Given the description of an element on the screen output the (x, y) to click on. 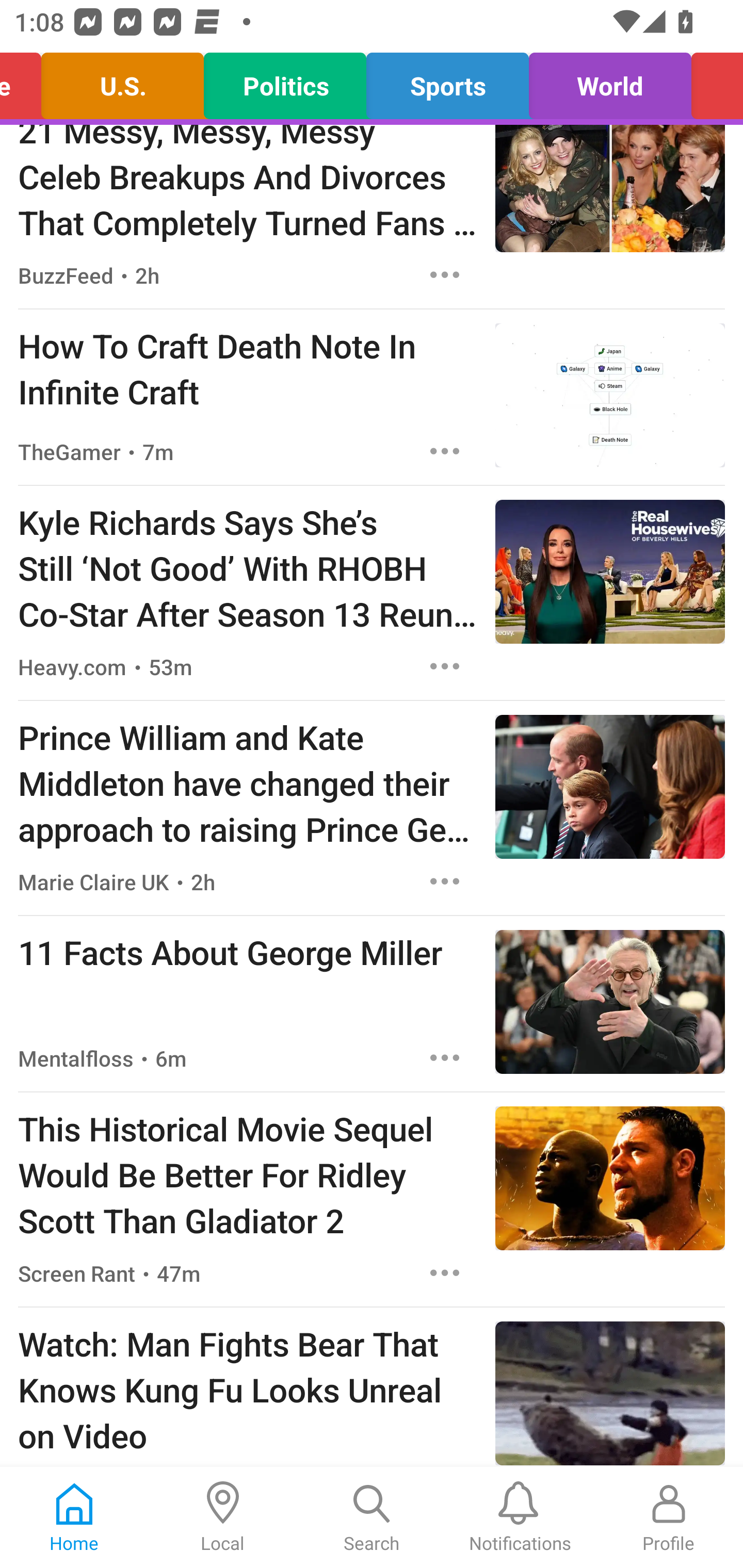
U.S. (122, 81)
Politics (285, 81)
Sports (447, 81)
World (609, 81)
Options (444, 275)
Options (444, 451)
Options (444, 666)
Options (444, 881)
Options (444, 1057)
Options (444, 1273)
Local (222, 1517)
Search (371, 1517)
Notifications (519, 1517)
Profile (668, 1517)
